Given the description of an element on the screen output the (x, y) to click on. 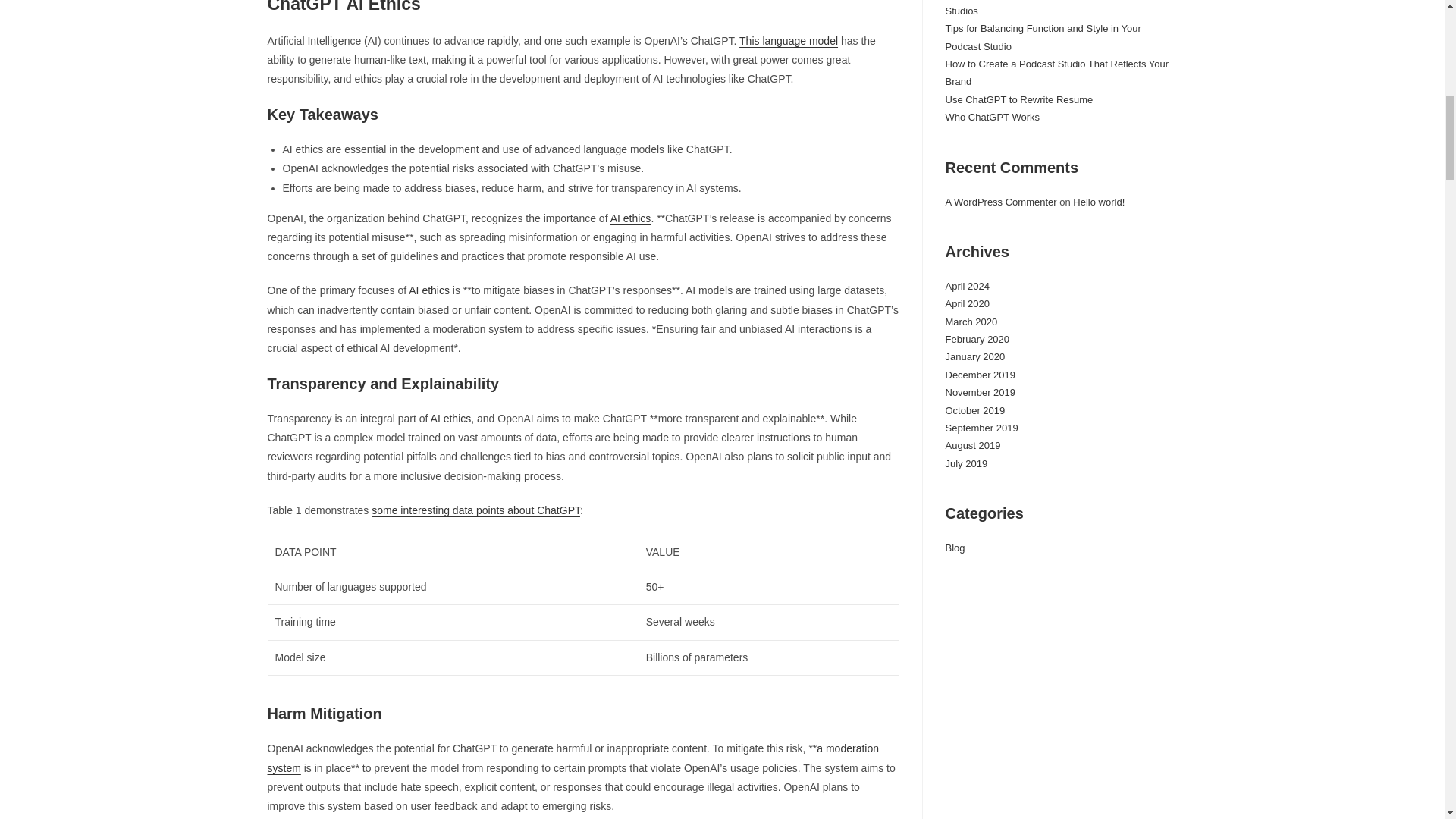
AI ethics (429, 290)
a moderation system (572, 757)
some interesting data points about ChatGPT (475, 510)
AI ethics (630, 218)
This language model (788, 40)
AI ethics (450, 418)
